Given the description of an element on the screen output the (x, y) to click on. 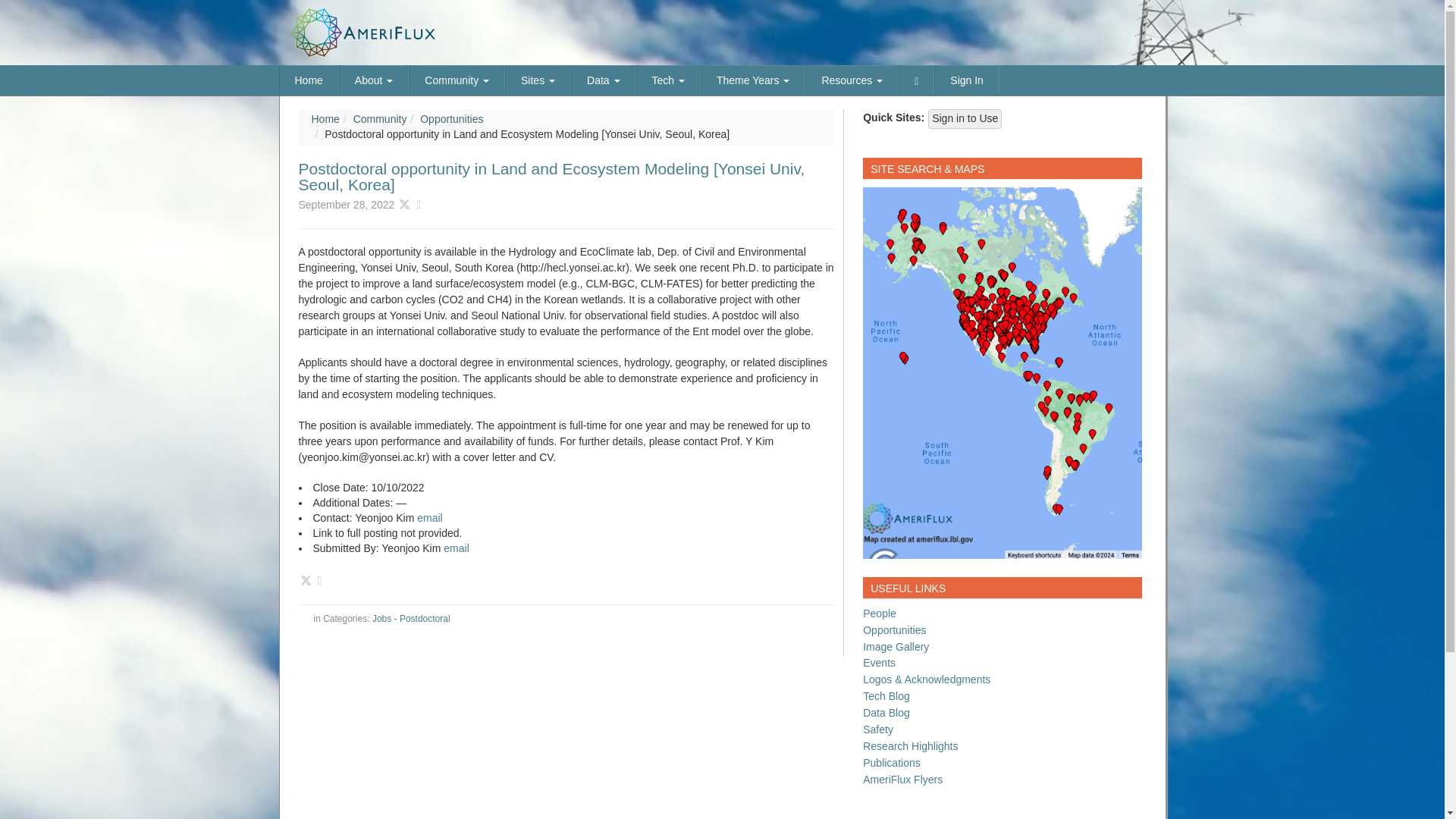
About (373, 80)
Community (456, 80)
Home (308, 80)
About (373, 80)
Home (308, 80)
Sites (537, 80)
Community (456, 80)
Data (602, 80)
